Given the description of an element on the screen output the (x, y) to click on. 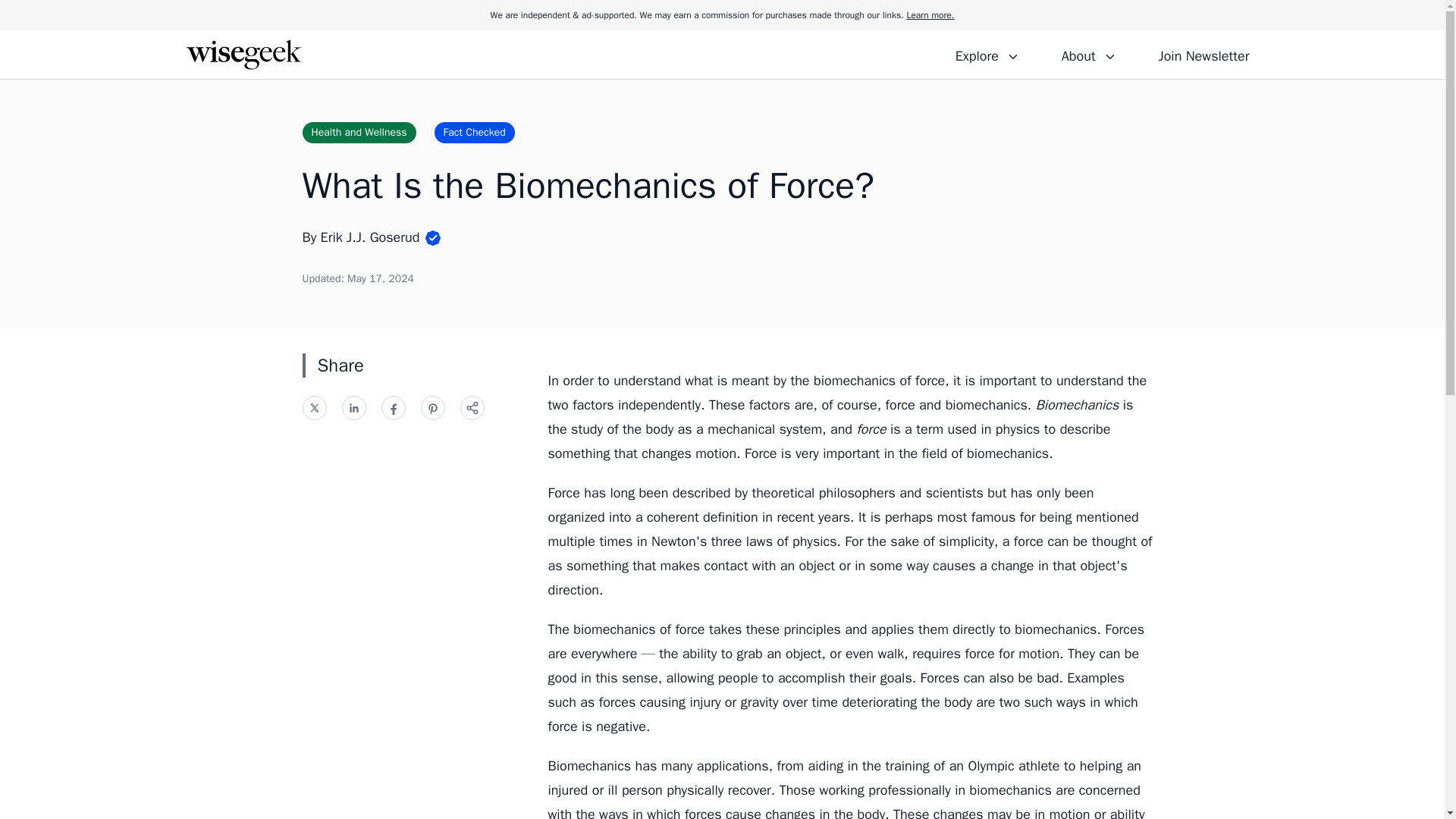
Fact Checked (474, 132)
Health and Wellness (357, 132)
Join Newsletter (1202, 54)
Explore (986, 54)
About (1088, 54)
Learn more. (929, 15)
